Given the description of an element on the screen output the (x, y) to click on. 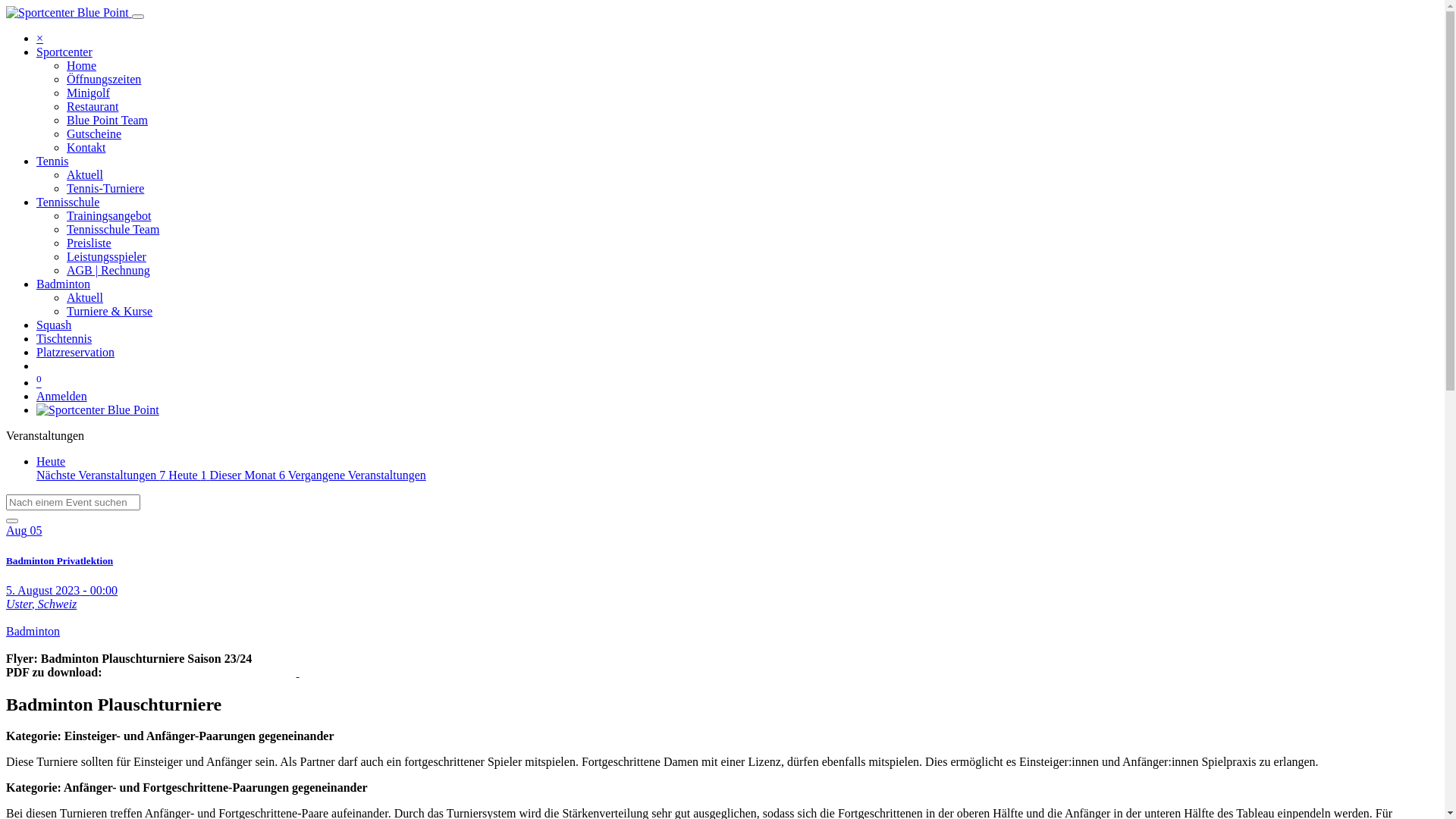
Heute Element type: text (50, 461)
Badminton Plauschturniere 2023_2024.pdf Element type: hover (297, 671)
Badminton Element type: text (63, 283)
0 Element type: text (38, 382)
Preisliste Element type: text (88, 242)
Blue Point Team Element type: text (106, 119)
Sportcenter Blue Point Element type: hover (67, 12)
Vergangene Veranstaltungen Element type: text (357, 474)
Anmelden Element type: text (61, 395)
Tennis-Turniere Element type: text (105, 188)
Gutscheine Element type: text (93, 133)
Sportcenter Blue Point Element type: hover (97, 409)
Dieser Monat 6 Element type: text (249, 474)
Turniere & Kurse Element type: text (109, 310)
Platzreservation Element type: text (75, 351)
Squash Element type: text (53, 324)
Leistungsspieler Element type: text (106, 256)
Aktuell Element type: text (84, 297)
Heute 1 Element type: text (188, 474)
Trainingsangebot Element type: text (108, 215)
Tennisschule Element type: text (67, 201)
Restaurant Element type: text (92, 106)
Tennis Element type: text (52, 160)
Aktuell Element type: text (84, 174)
Tischtennis Element type: text (63, 338)
Sportcenter Element type: text (64, 51)
Suchen Element type: hover (12, 520)
Home Element type: text (81, 65)
  Element type: text (297, 671)
Kontakt Element type: text (86, 147)
AGB | Rechnung Element type: text (108, 269)
Tennisschule Team Element type: text (112, 228)
Minigolf Element type: text (87, 92)
